Given the description of an element on the screen output the (x, y) to click on. 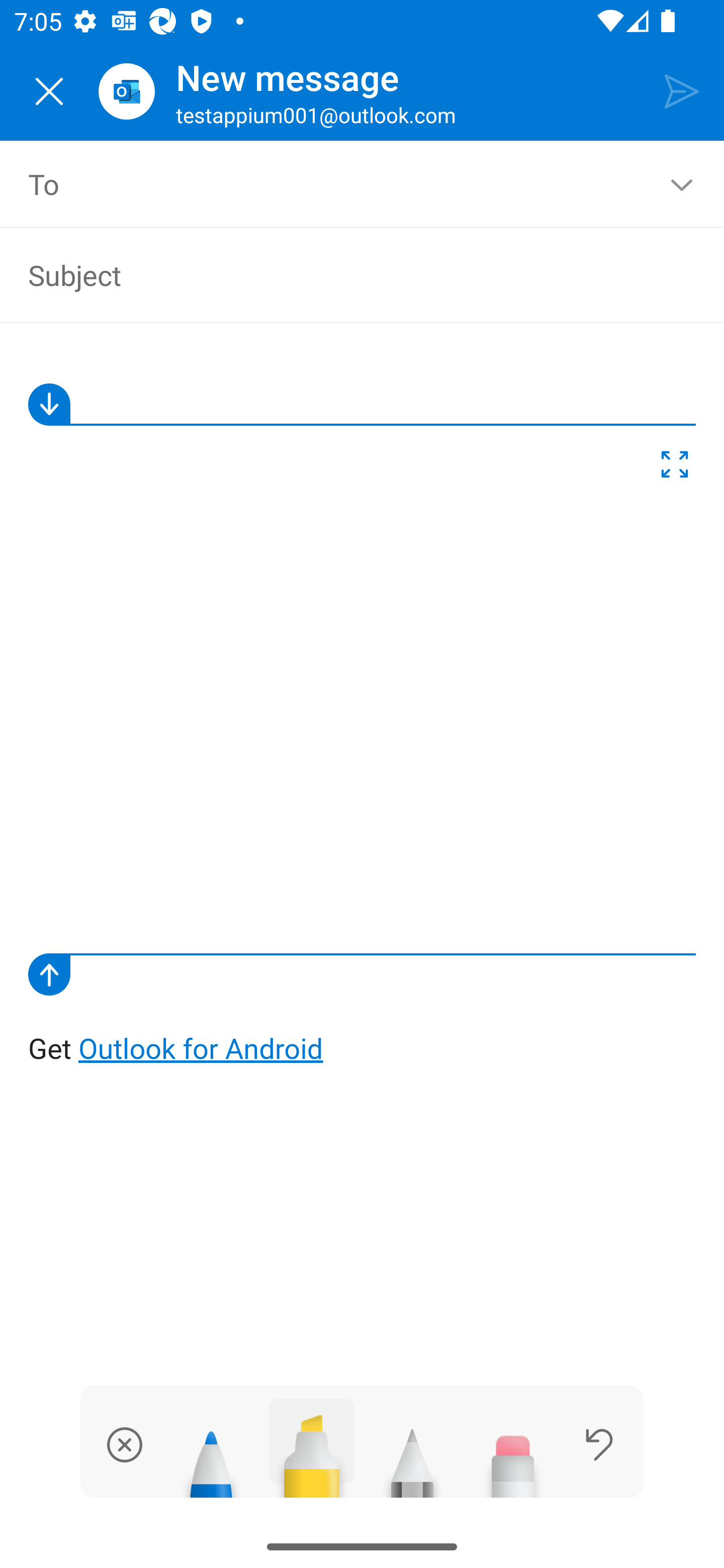
Close (49, 91)
Send (681, 90)
Subject (347, 274)


Get Outlook for Android (363, 707)
Canvas upper bound (362, 404)
Expand Drawing (674, 467)
Canvas Lower Bound (362, 974)
Highlighter tool (311, 1447)
dismiss ink and save drawing (124, 1444)
Undo last stroke (598, 1444)
Pen tool (210, 1455)
Pencil tool (411, 1455)
Eraser tool (512, 1455)
